Given the description of an element on the screen output the (x, y) to click on. 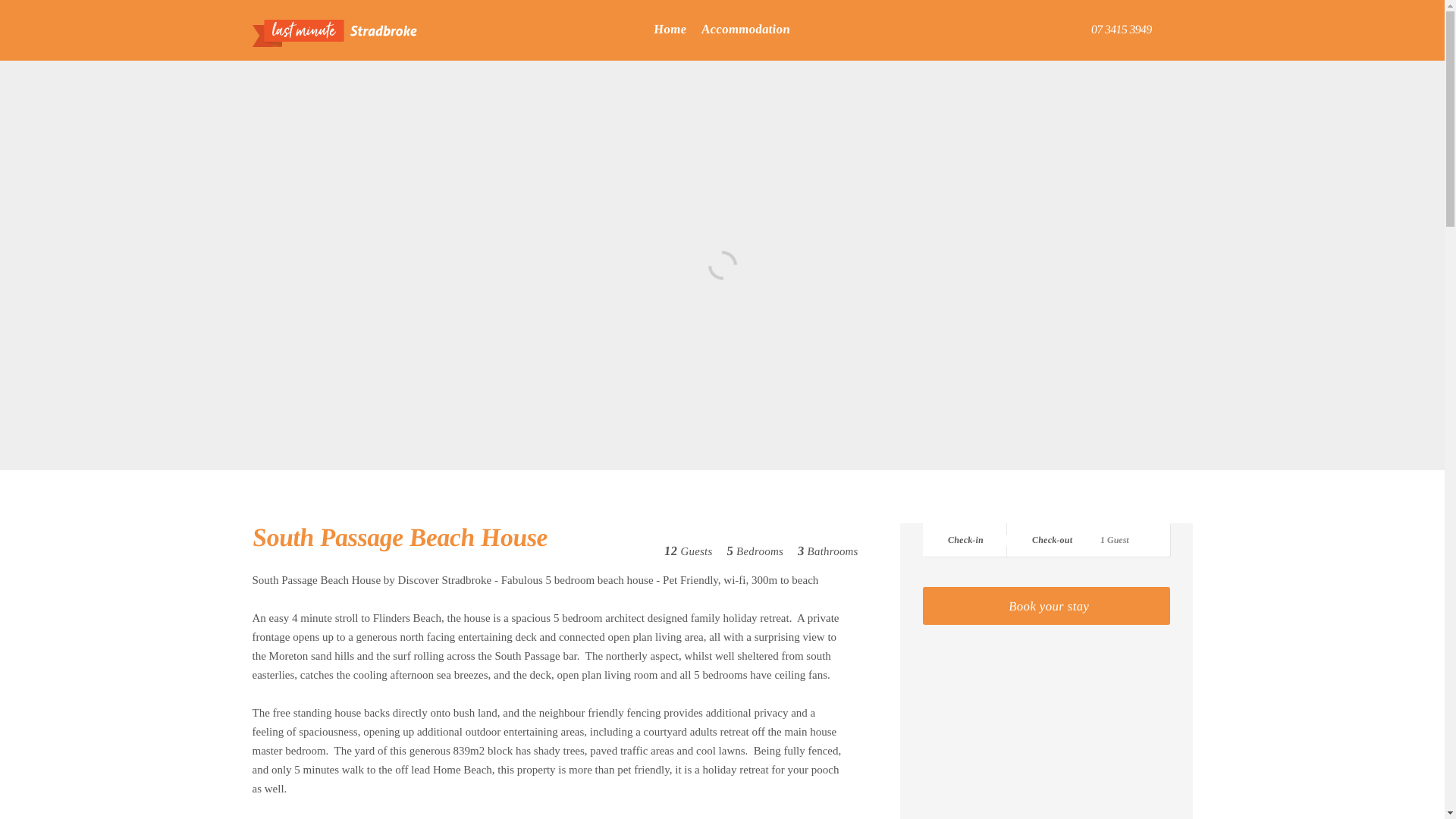
Twitter (1192, 20)
Facebook (1165, 20)
Accommodation (745, 30)
Instagram (1179, 20)
07 3415 3949 (1119, 29)
